Given the description of an element on the screen output the (x, y) to click on. 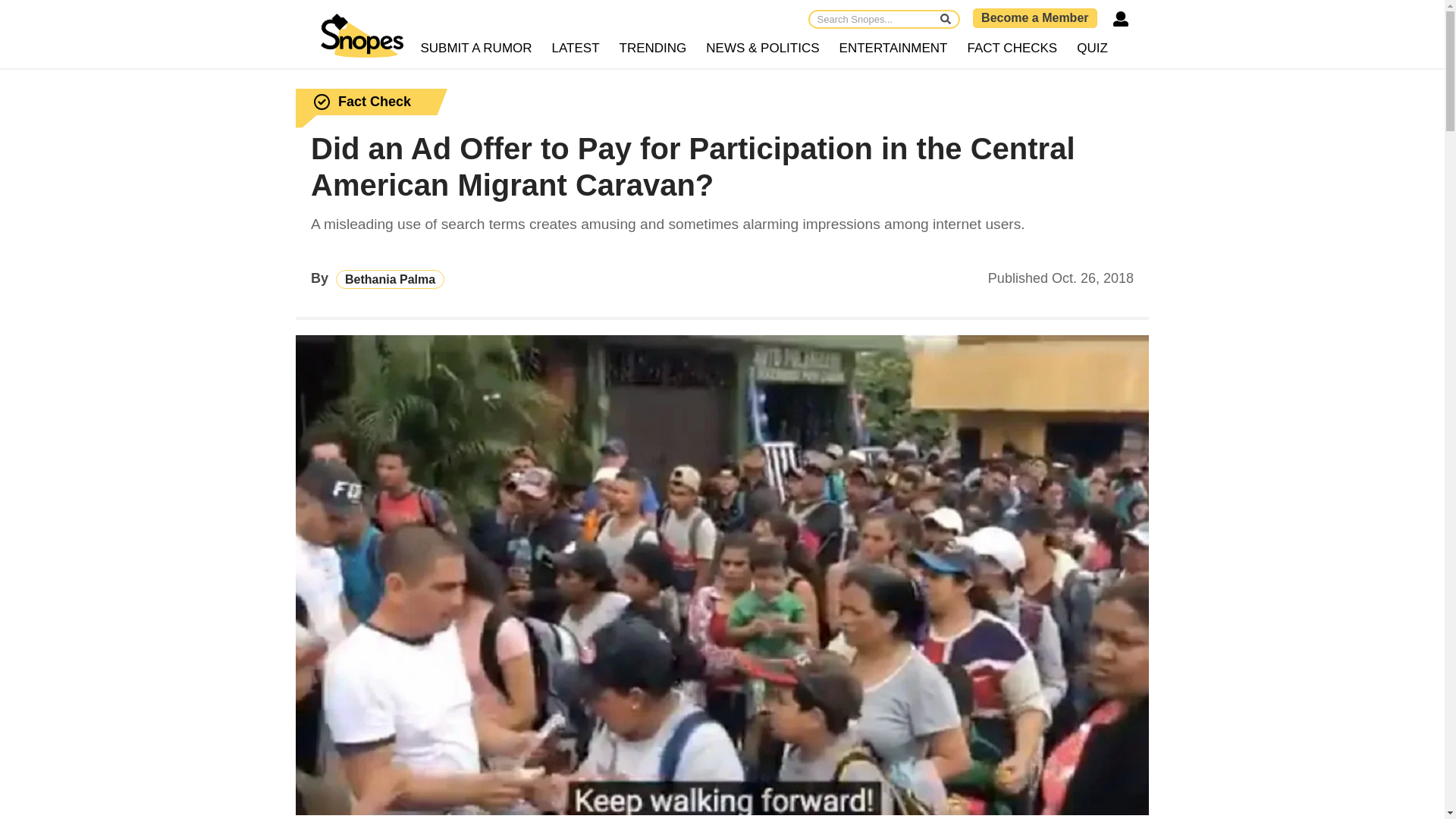
QUIZ (1092, 47)
LATEST (576, 47)
Become a Member (1034, 17)
FACT CHECKS (1011, 47)
TRENDING (653, 47)
Bethania Palma (390, 279)
SUBMIT A RUMOR (475, 47)
ENTERTAINMENT (893, 47)
